Given the description of an element on the screen output the (x, y) to click on. 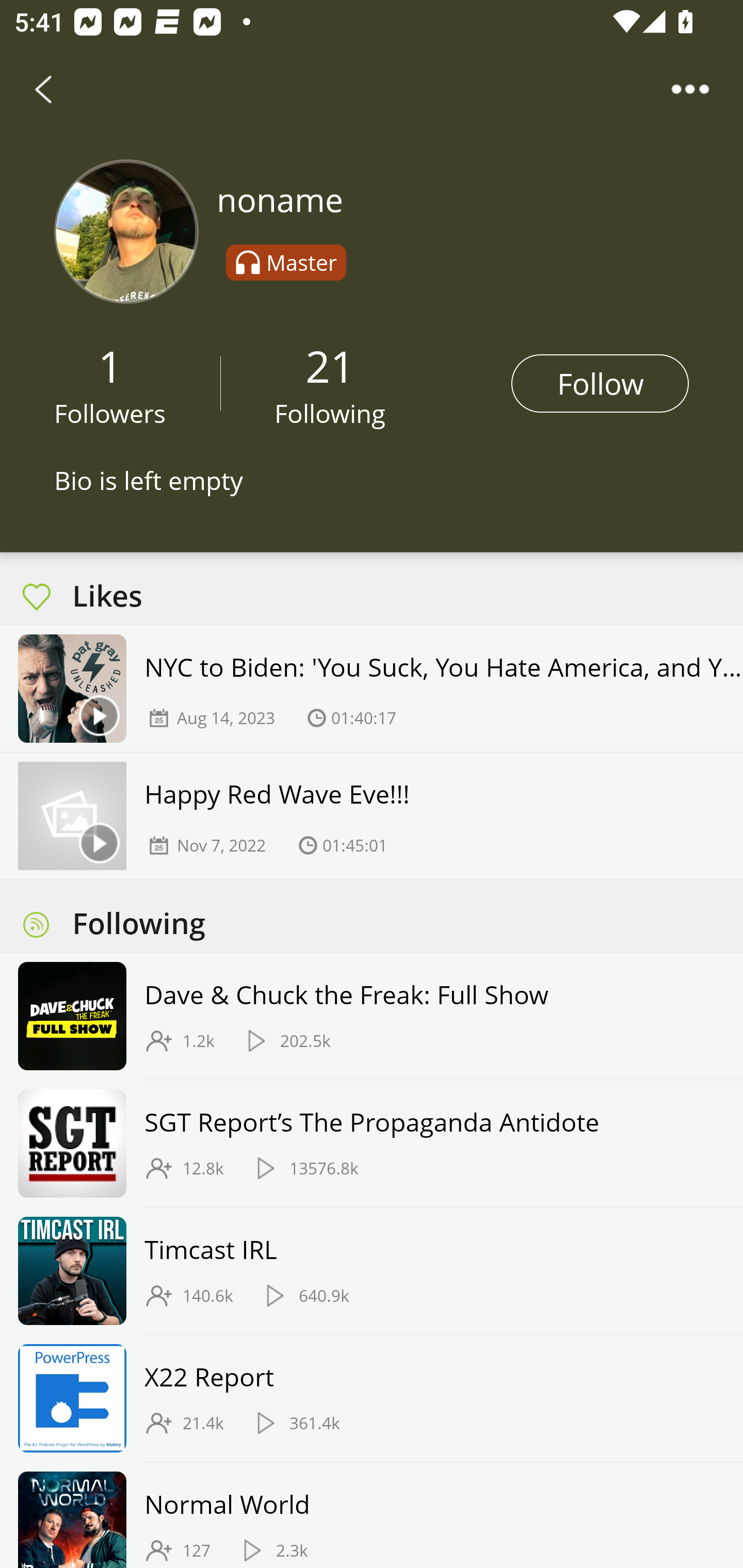
1 (110, 365)
21 (330, 365)
Follow (599, 383)
Followers (110, 413)
Following (329, 413)
Happy Red Wave Eve!!! Nov 7, 2022 01:45:01 (371, 815)
Dave & Chuck the Freak: Full Show 1.2k 202.5k (371, 1016)
Timcast IRL 140.6k 640.9k (371, 1270)
X22 Report 21.4k 361.4k (371, 1398)
Normal World 127 2.3k (371, 1515)
